Given the description of an element on the screen output the (x, y) to click on. 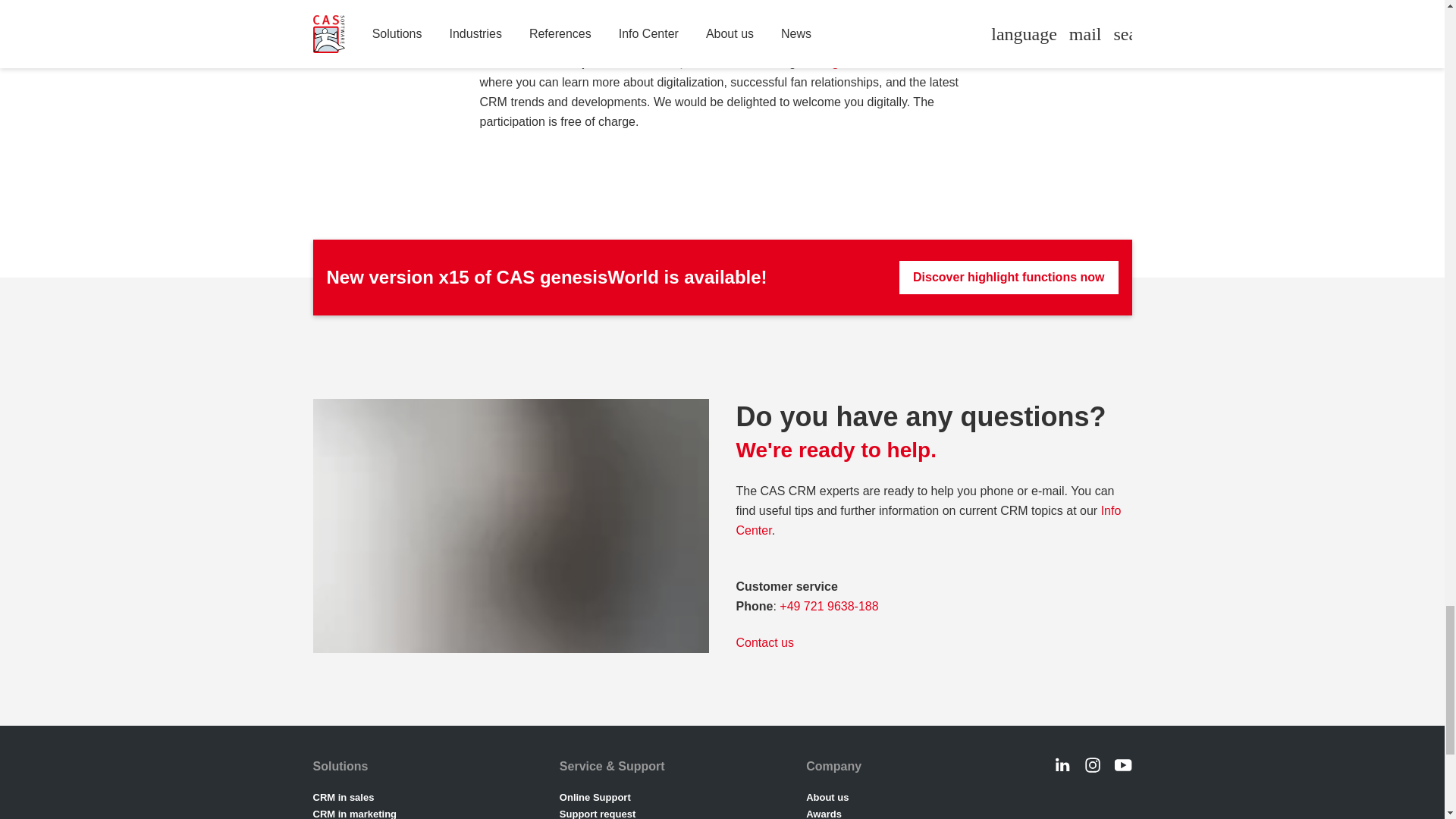
LinkedIn (1061, 764)
Instagram (1091, 764)
YouTube (1122, 764)
